Given the description of an element on the screen output the (x, y) to click on. 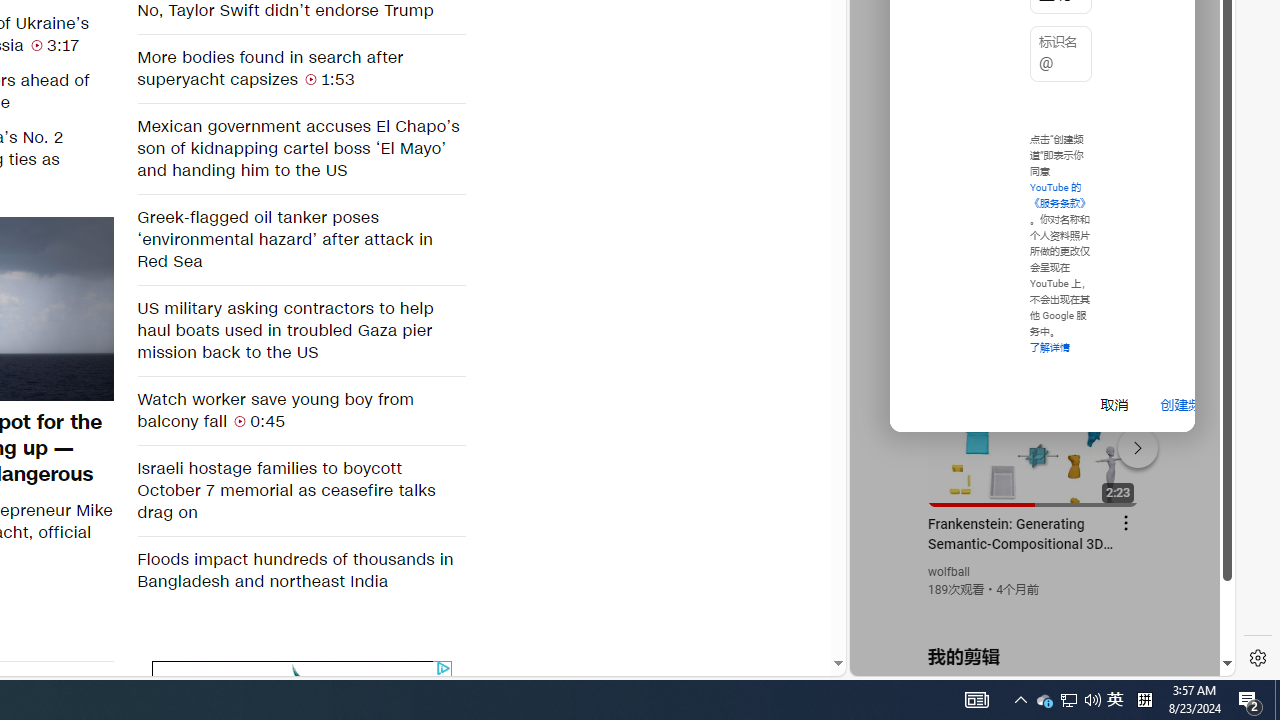
Class: dict_pnIcon rms_img (1028, 660)
